Given the description of an element on the screen output the (x, y) to click on. 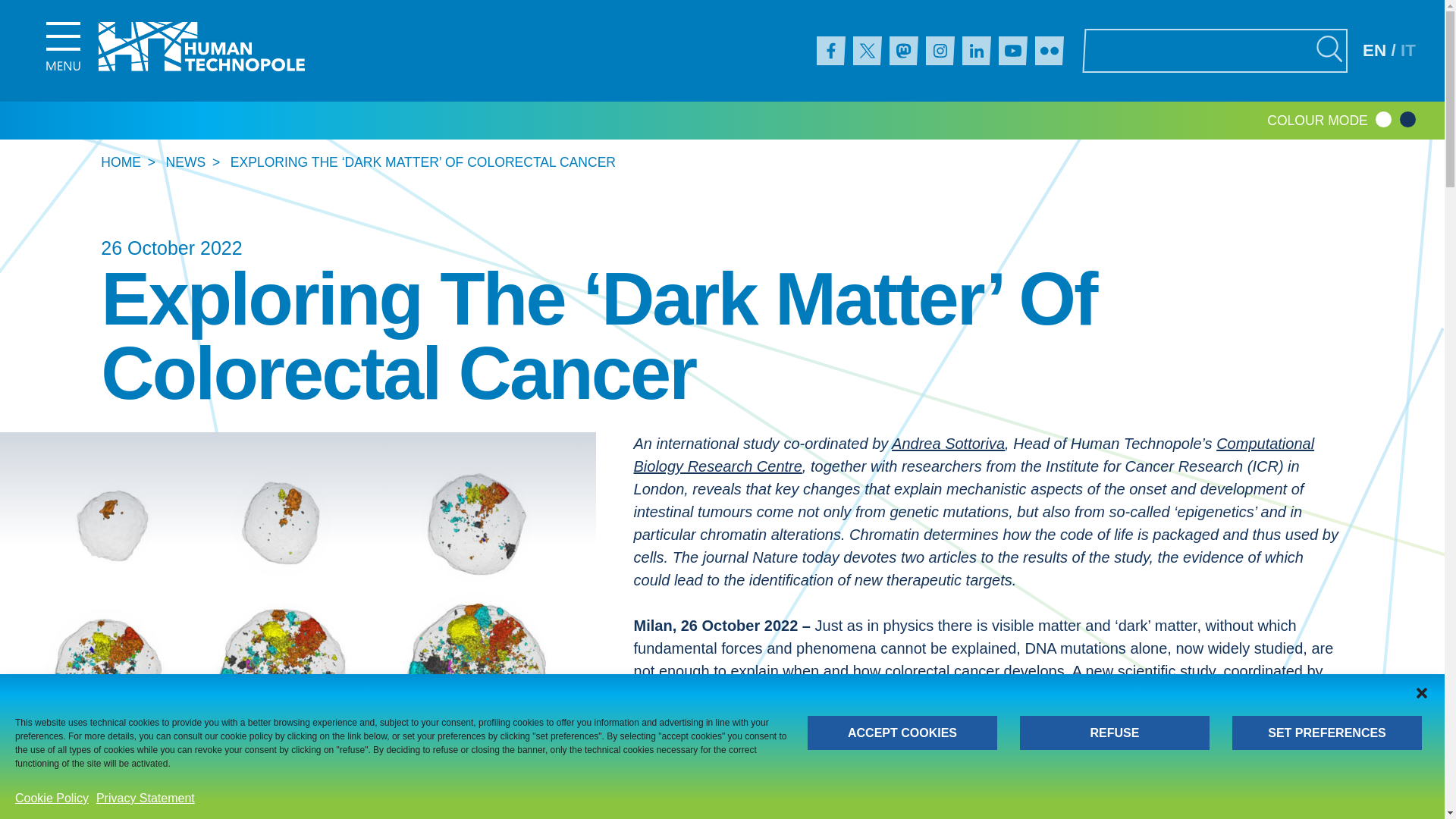
Cookie Policy (51, 798)
EN (1374, 49)
SET PREFERENCES (1326, 732)
REFUSE (1114, 732)
ACCEPT COOKIES (902, 732)
Privacy Statement (145, 798)
